Given the description of an element on the screen output the (x, y) to click on. 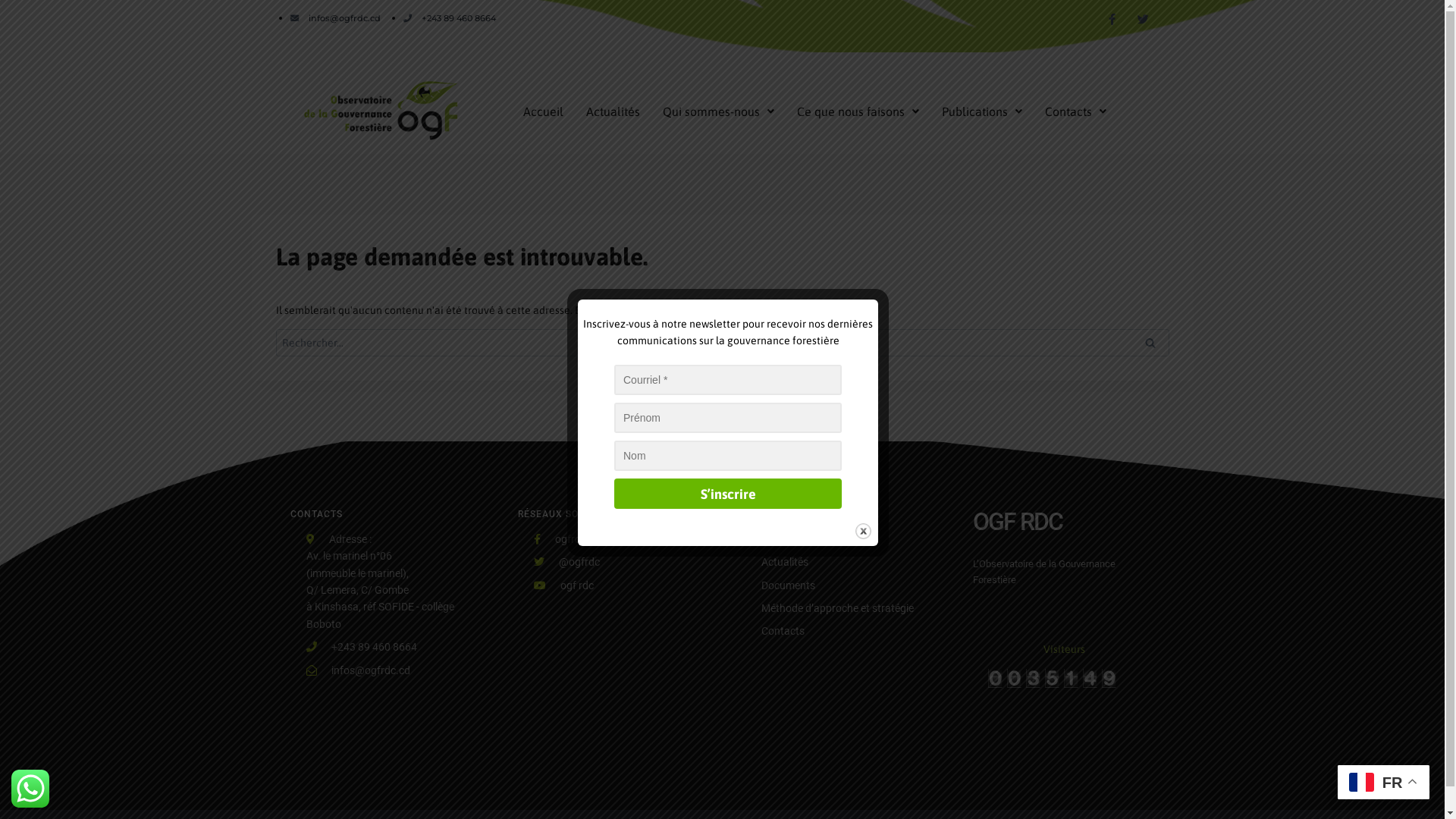
Documents Element type: text (788, 585)
Ce que nous faisons Element type: text (857, 111)
infos@ogfrdc.cd Element type: text (358, 670)
+243 89 460 8664 Element type: text (361, 646)
Publications Element type: text (981, 111)
+243 89 460 8664 Element type: text (449, 17)
Qui sommes-nous Element type: text (718, 111)
ogfrdc Element type: text (559, 539)
Accueil Element type: text (777, 539)
Accueil Element type: text (542, 111)
Rechercher Element type: text (1150, 342)
Fermer Element type: hover (863, 531)
Contacts Element type: text (1075, 111)
@ogfrdc Element type: text (566, 561)
ogf rdc Element type: text (563, 585)
infos@ogfrdc.cd Element type: text (334, 17)
Contacts Element type: text (782, 630)
